Given the description of an element on the screen output the (x, y) to click on. 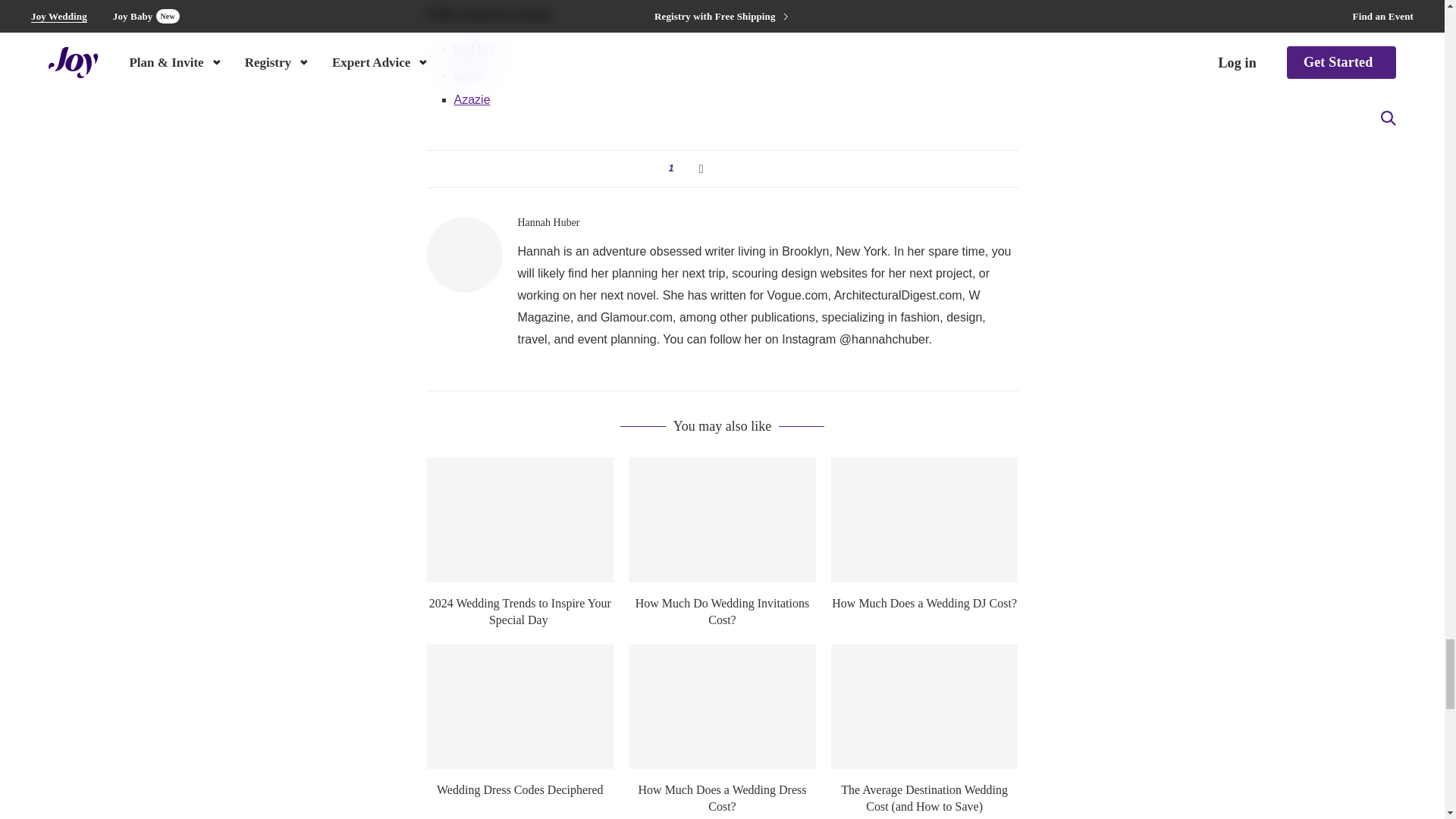
Wedding Dress Codes Deciphered (519, 706)
How Much Does a Wedding DJ Cost? (924, 519)
Author Hannah Huber (547, 223)
How Much Do Wedding Invitations Cost? (721, 519)
How Much Does a Wedding Dress Cost? (721, 706)
